Given the description of an element on the screen output the (x, y) to click on. 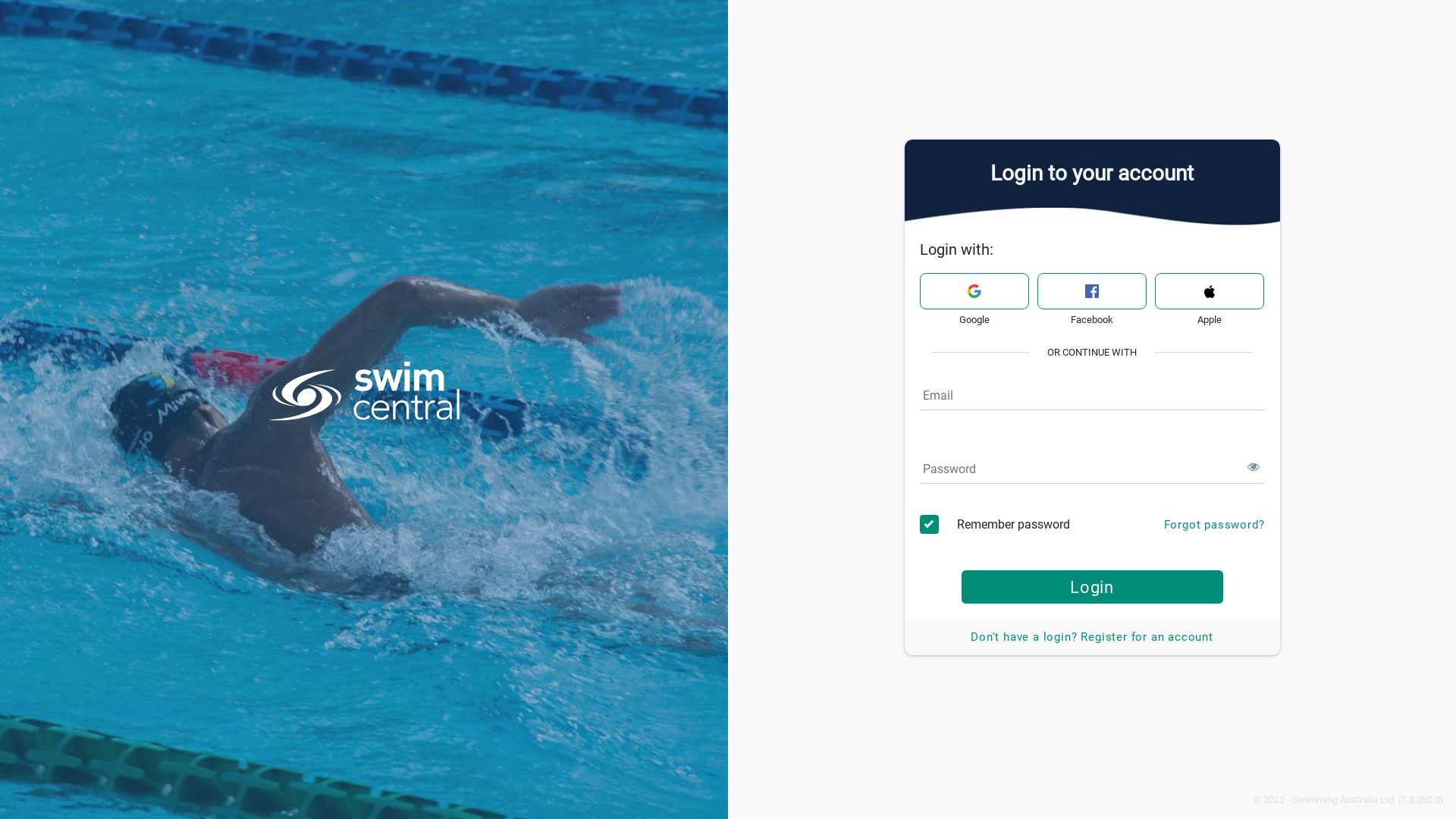
Apple Element type: text (1209, 291)
Continue with Apple Element type: hover (1209, 291)
Forgot password? Element type: text (1214, 524)
Google Element type: text (974, 291)
Log in using your Google account Element type: hover (974, 291)
Don't have a login? Register for an account Element type: text (1091, 636)
Facebook Element type: text (1092, 291)
Continue with Facebook Element type: hover (1092, 291)
Login Element type: text (1092, 586)
